Given the description of an element on the screen output the (x, y) to click on. 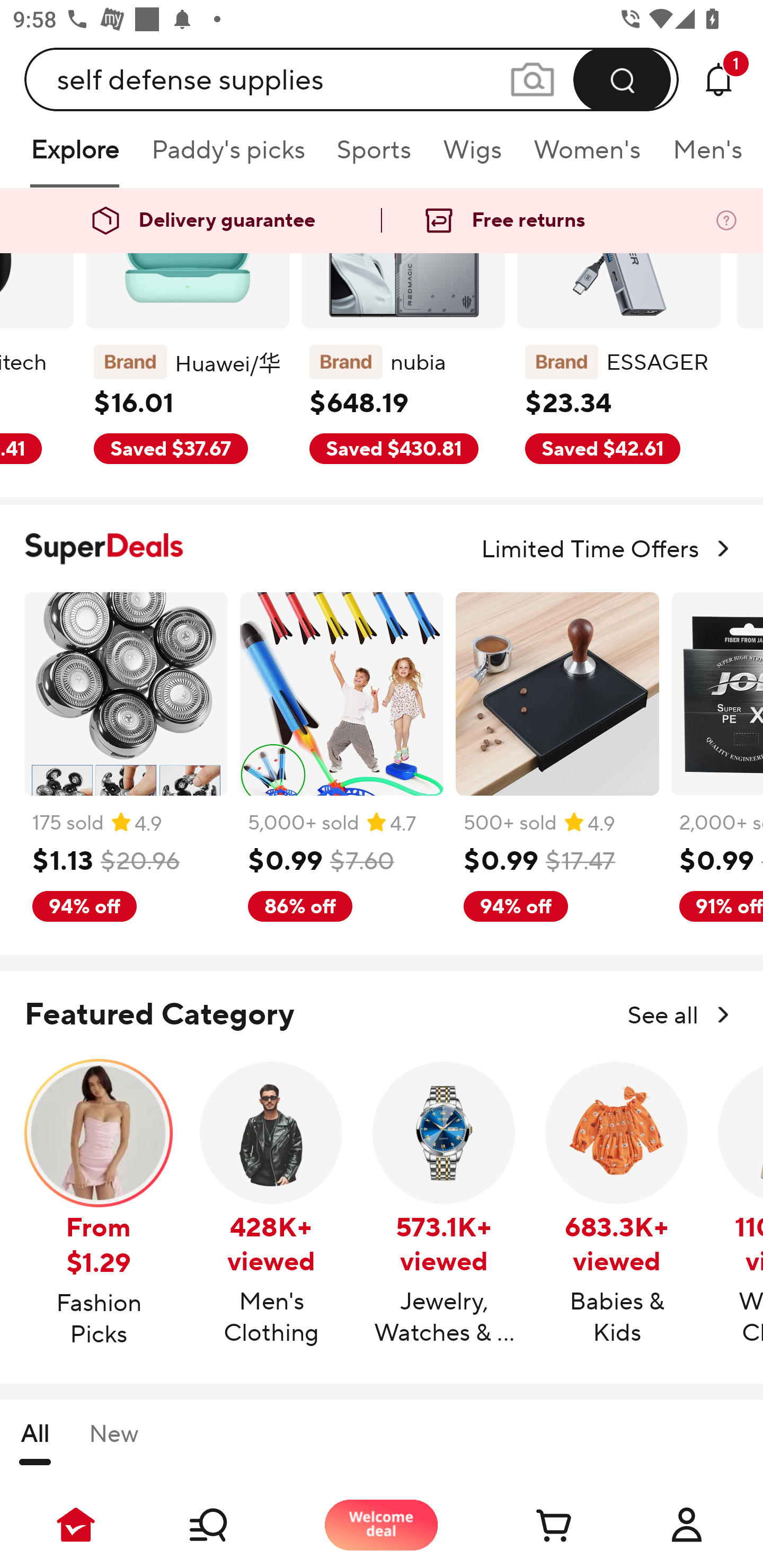
self defense supplies (351, 79)
Paddy's picks (227, 155)
Sports (373, 155)
Wigs (472, 155)
Women's (586, 155)
Men's (701, 155)
From $1.29 Fashion Picks (98, 1204)
428K+ viewed Men's Clothing (270, 1204)
573.1K+ viewed Jewelry, Watches & Accessories (444, 1204)
683.3K+ viewed Babies & Kids (616, 1204)
New (113, 1441)
Shop (228, 1524)
Cart (533, 1524)
Account (686, 1524)
